Given the description of an element on the screen output the (x, y) to click on. 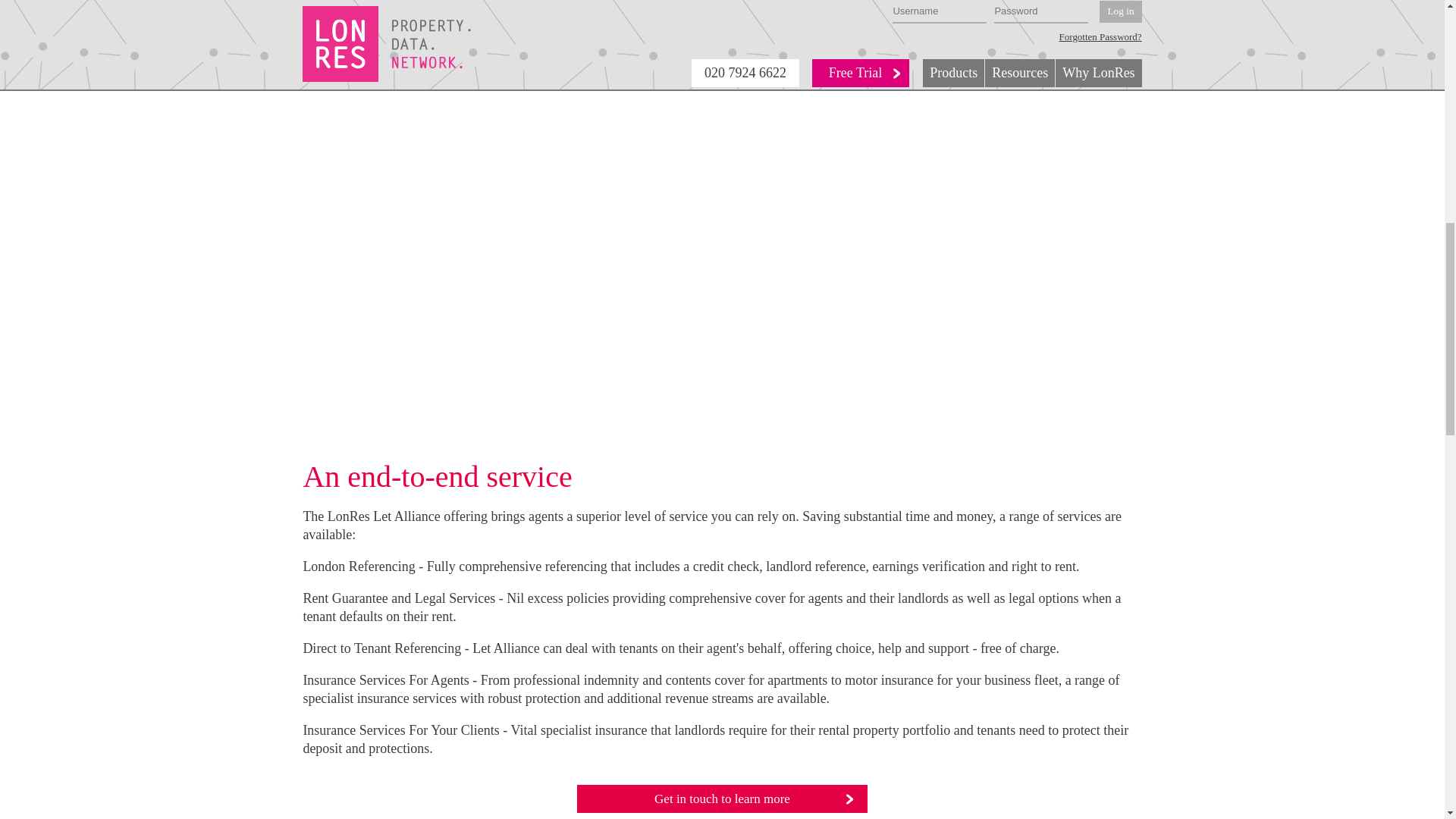
Get in touch to learn more (721, 798)
